Given the description of an element on the screen output the (x, y) to click on. 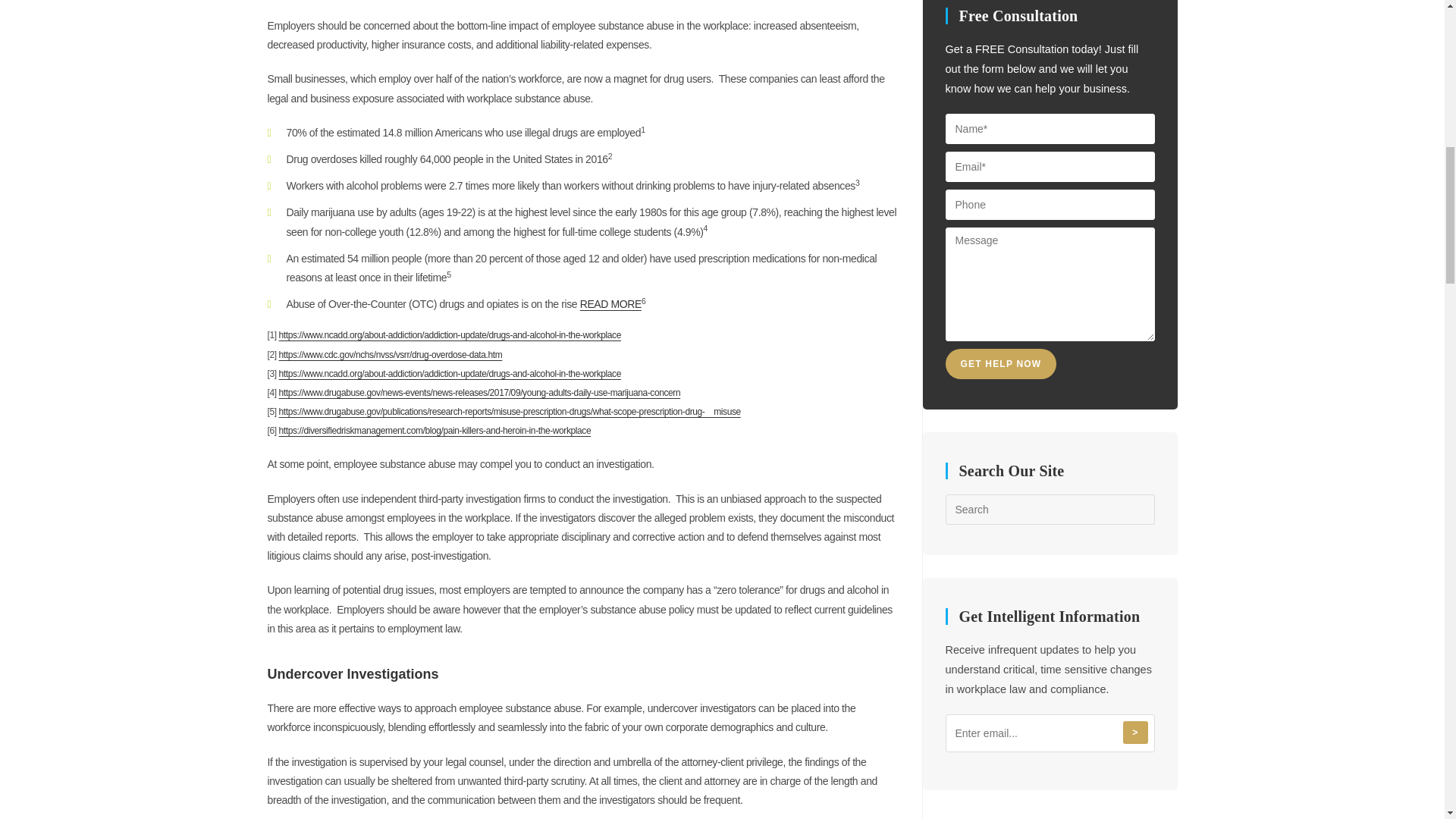
GET HELP NOW (1000, 363)
